Given the description of an element on the screen output the (x, y) to click on. 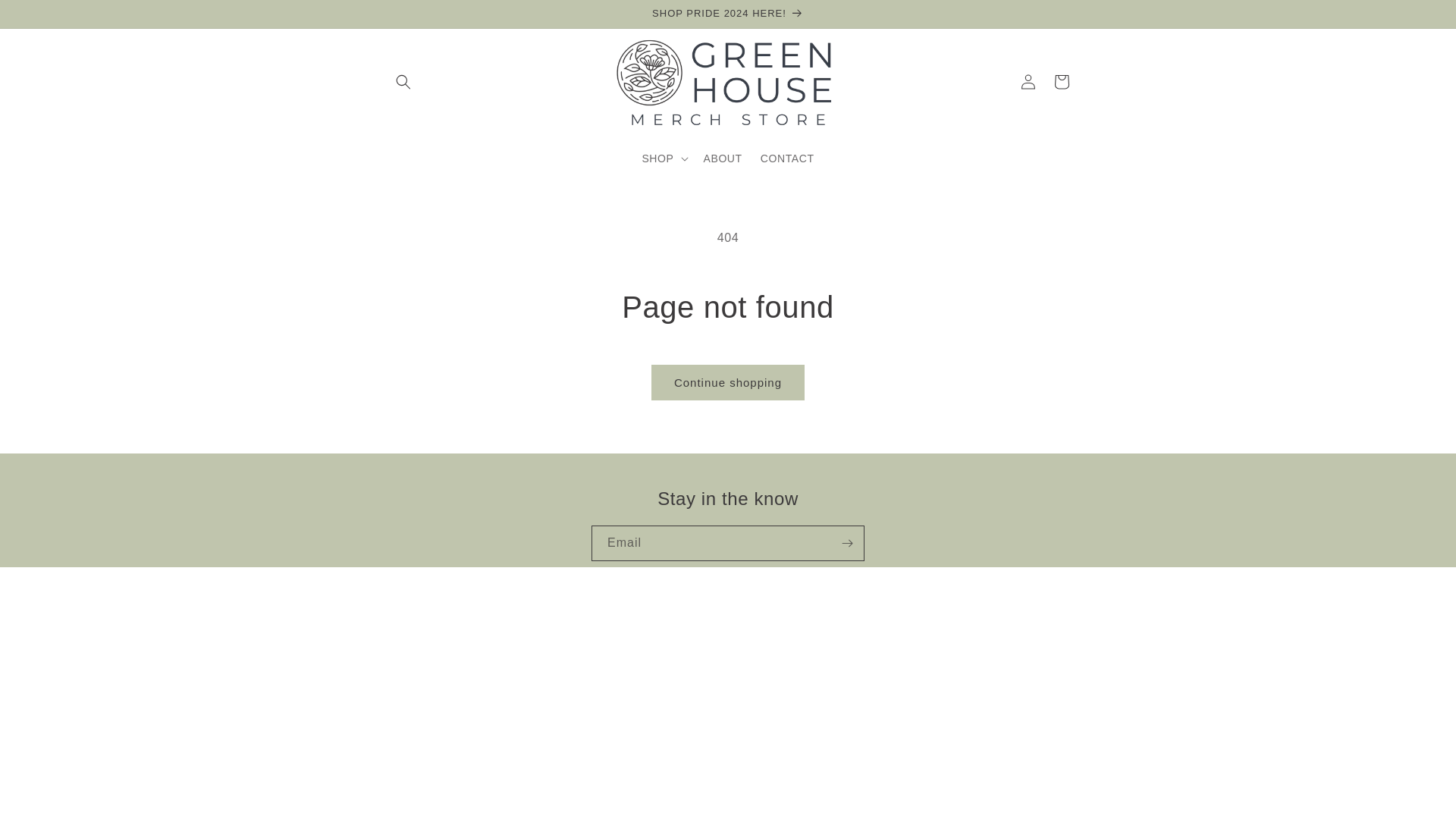
ABOUT (722, 158)
Continue shopping (727, 382)
CONTACT (787, 158)
Log in (1028, 81)
Skip to content (45, 17)
Cart (1061, 81)
